Given the description of an element on the screen output the (x, y) to click on. 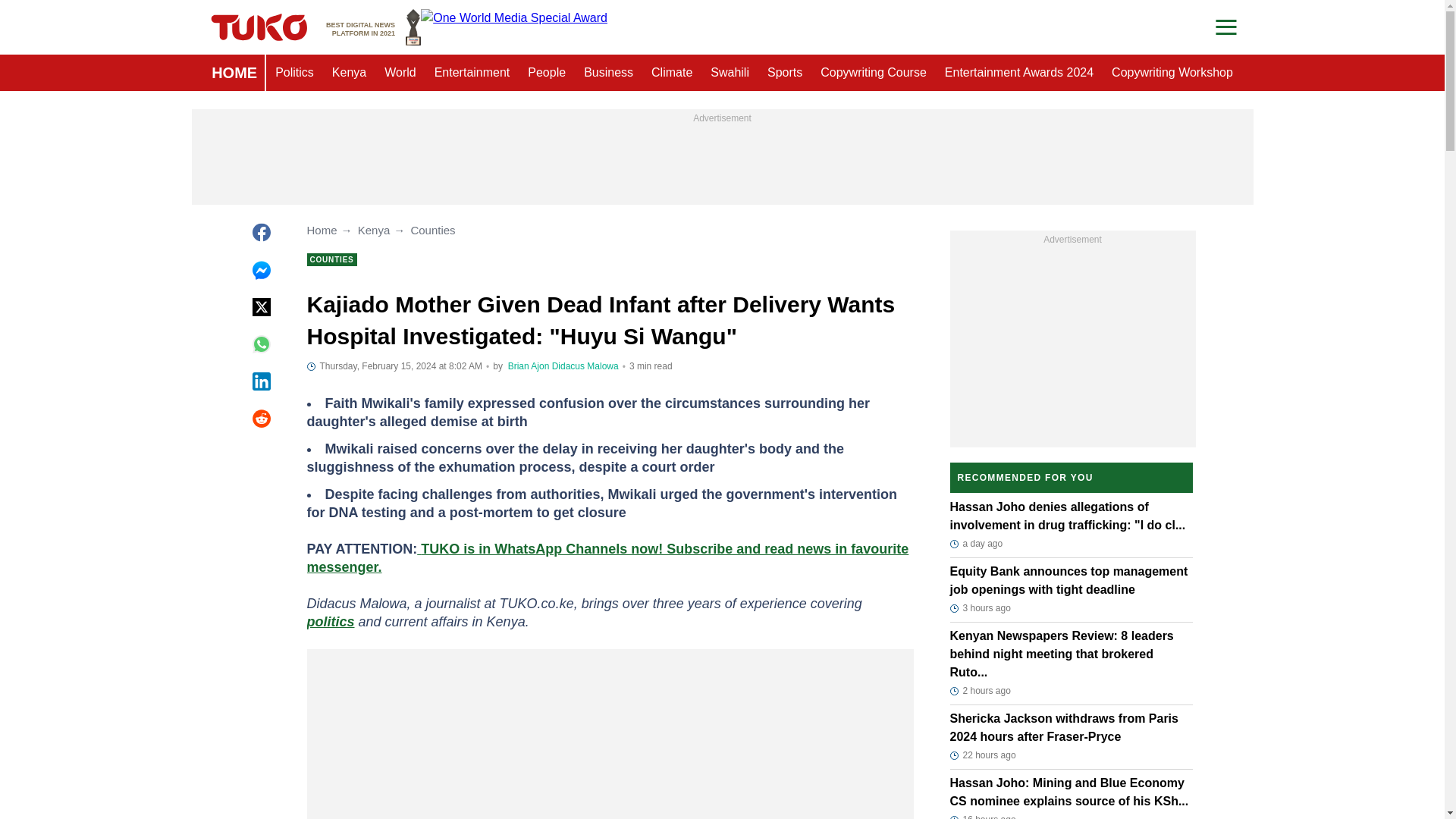
Copywriting Course (873, 72)
HOME (234, 72)
Climate (671, 72)
Entertainment Awards 2024 (1019, 72)
Kenya (349, 72)
Business (608, 72)
Sports (784, 72)
People (546, 72)
Copywriting Workshop (1171, 72)
Author page (584, 366)
Author page (529, 366)
World (400, 72)
Politics (294, 72)
Entertainment (472, 72)
Swahili (729, 72)
